Given the description of an element on the screen output the (x, y) to click on. 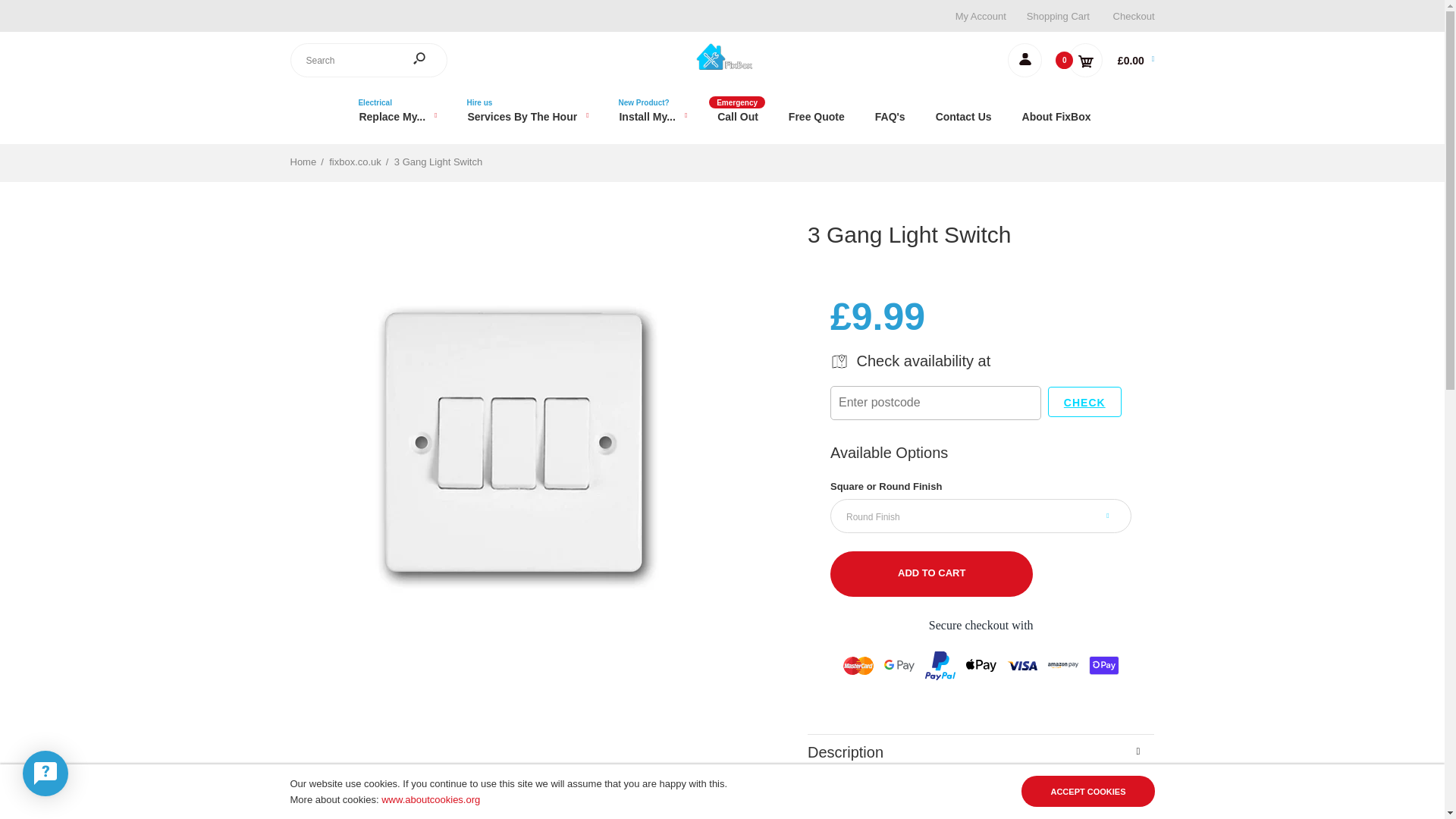
Add to cart (931, 574)
My Account (980, 16)
fixbox.co.uk (722, 66)
fixbox.co.uk (722, 56)
